Given the description of an element on the screen output the (x, y) to click on. 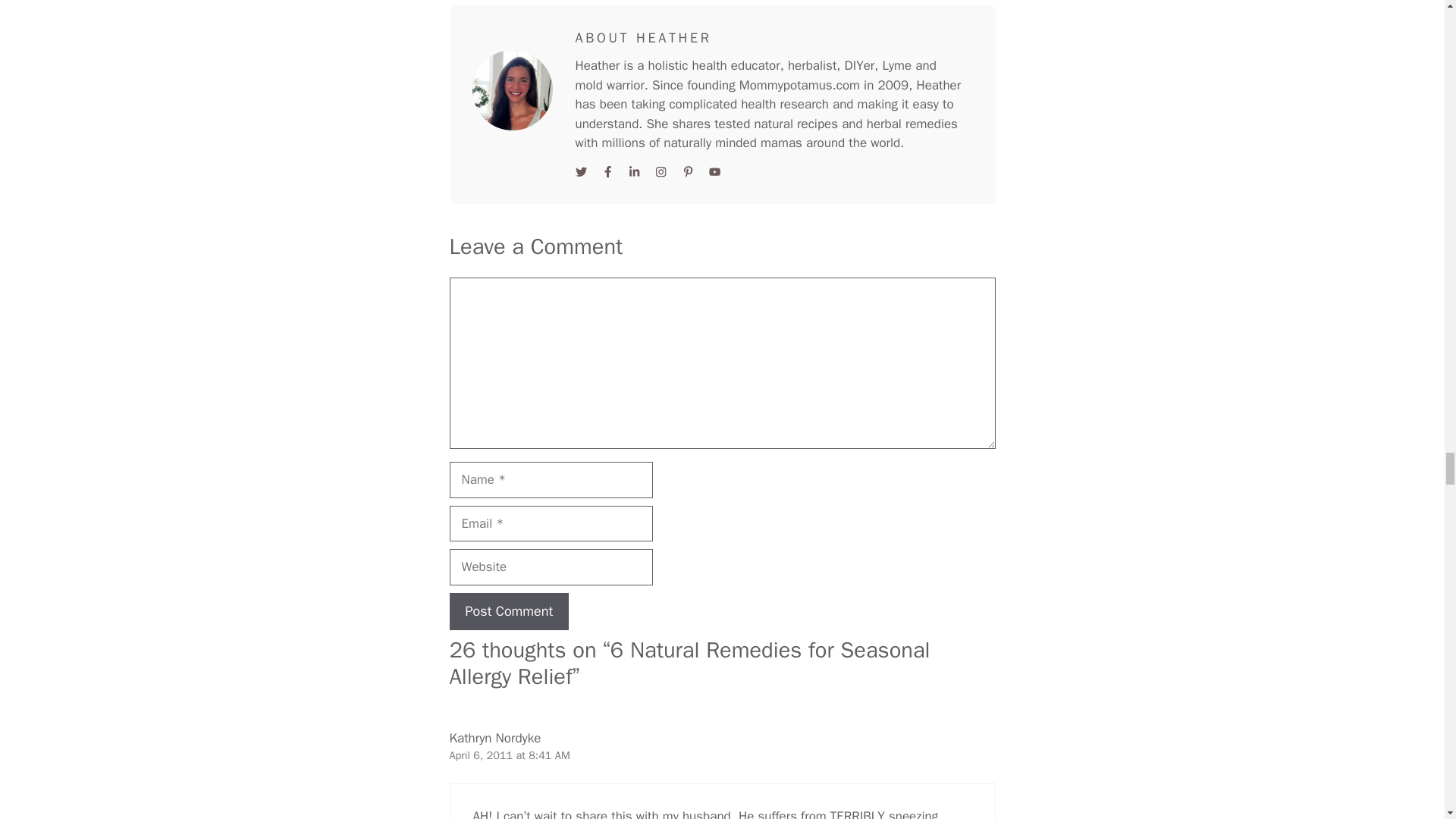
Post Comment (508, 610)
